Given the description of an element on the screen output the (x, y) to click on. 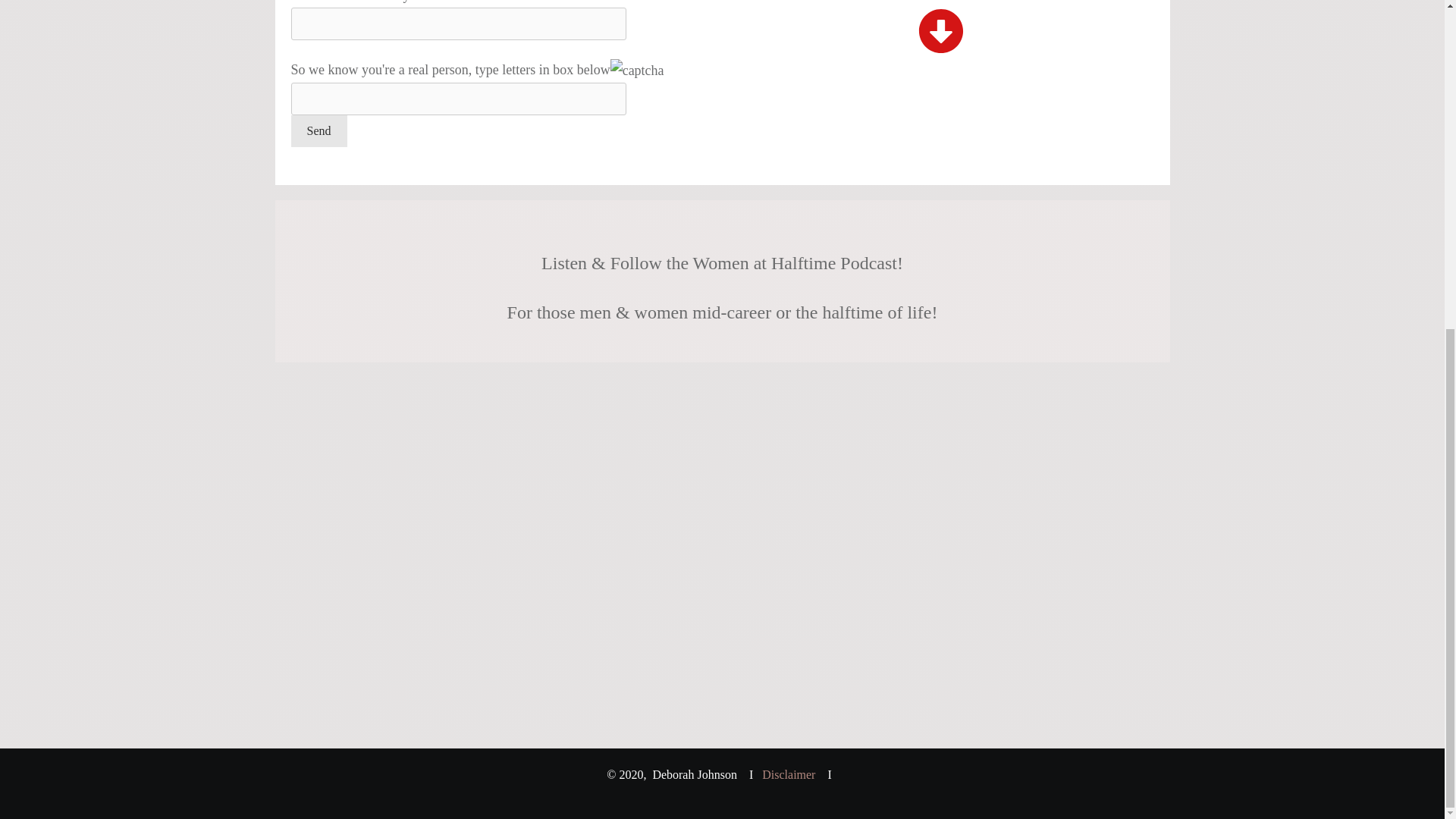
Send (319, 131)
Disclaimer (788, 774)
Send (319, 131)
